Given the description of an element on the screen output the (x, y) to click on. 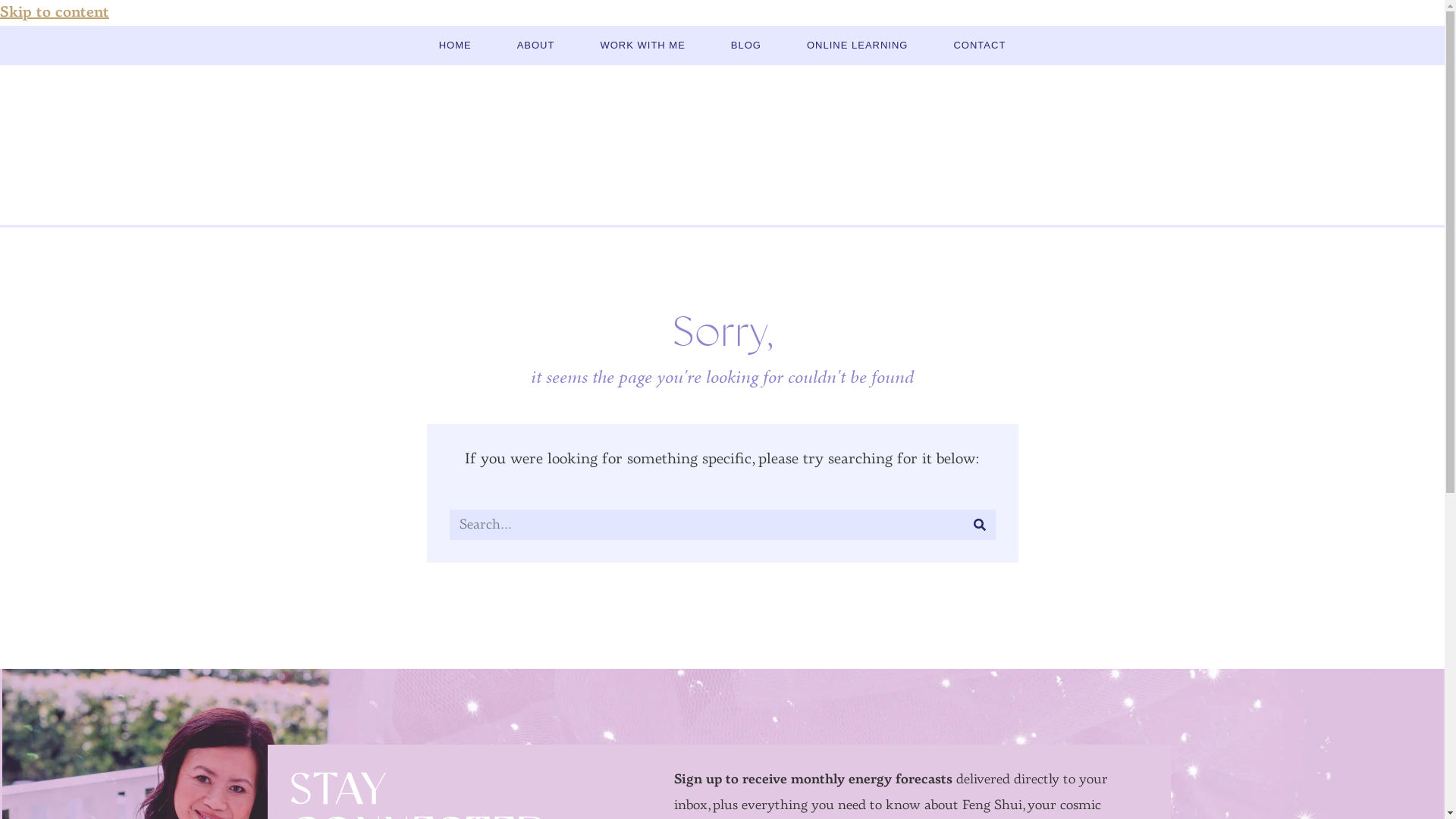
CONTACT Element type: text (979, 45)
HOME Element type: text (454, 45)
BLOG Element type: text (745, 45)
ABOUT Element type: text (536, 45)
Skip to content Element type: text (54, 12)
WORK WITH ME Element type: text (641, 45)
ONLINE LEARNING Element type: text (856, 45)
